Given the description of an element on the screen output the (x, y) to click on. 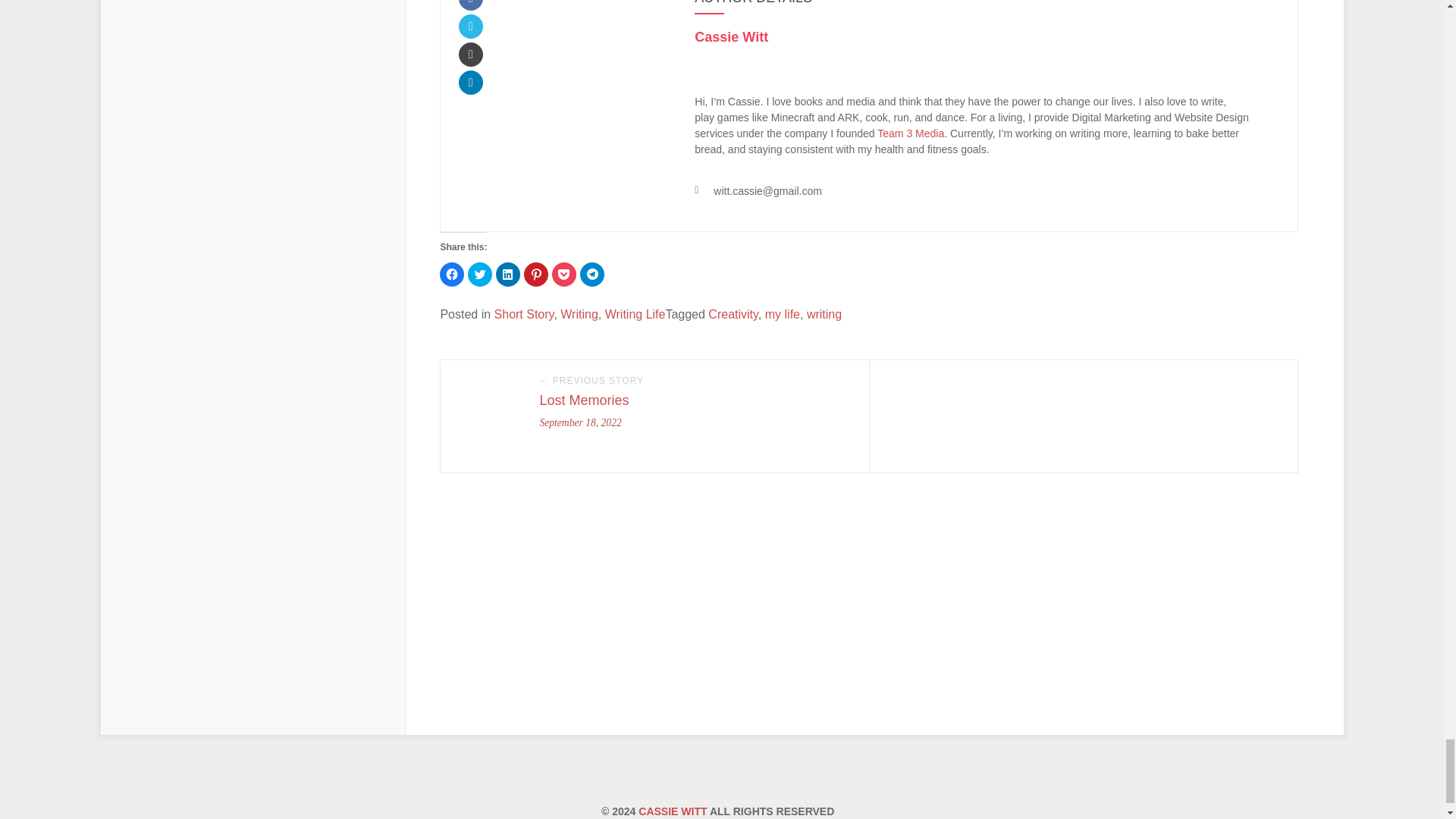
Click to share on Facebook (451, 274)
Writing Life (635, 314)
Click to share on LinkedIn (507, 274)
Cassie Witt (731, 37)
Team 3 Media (910, 133)
Click to share on Pinterest (536, 274)
Click to share on Telegram (591, 274)
CASSIE WITT (672, 811)
writing (823, 314)
Click to share on Twitter (479, 274)
Creativity (732, 314)
my life (782, 314)
Short Story (524, 314)
Lost Memories (583, 400)
Writing (579, 314)
